Given the description of an element on the screen output the (x, y) to click on. 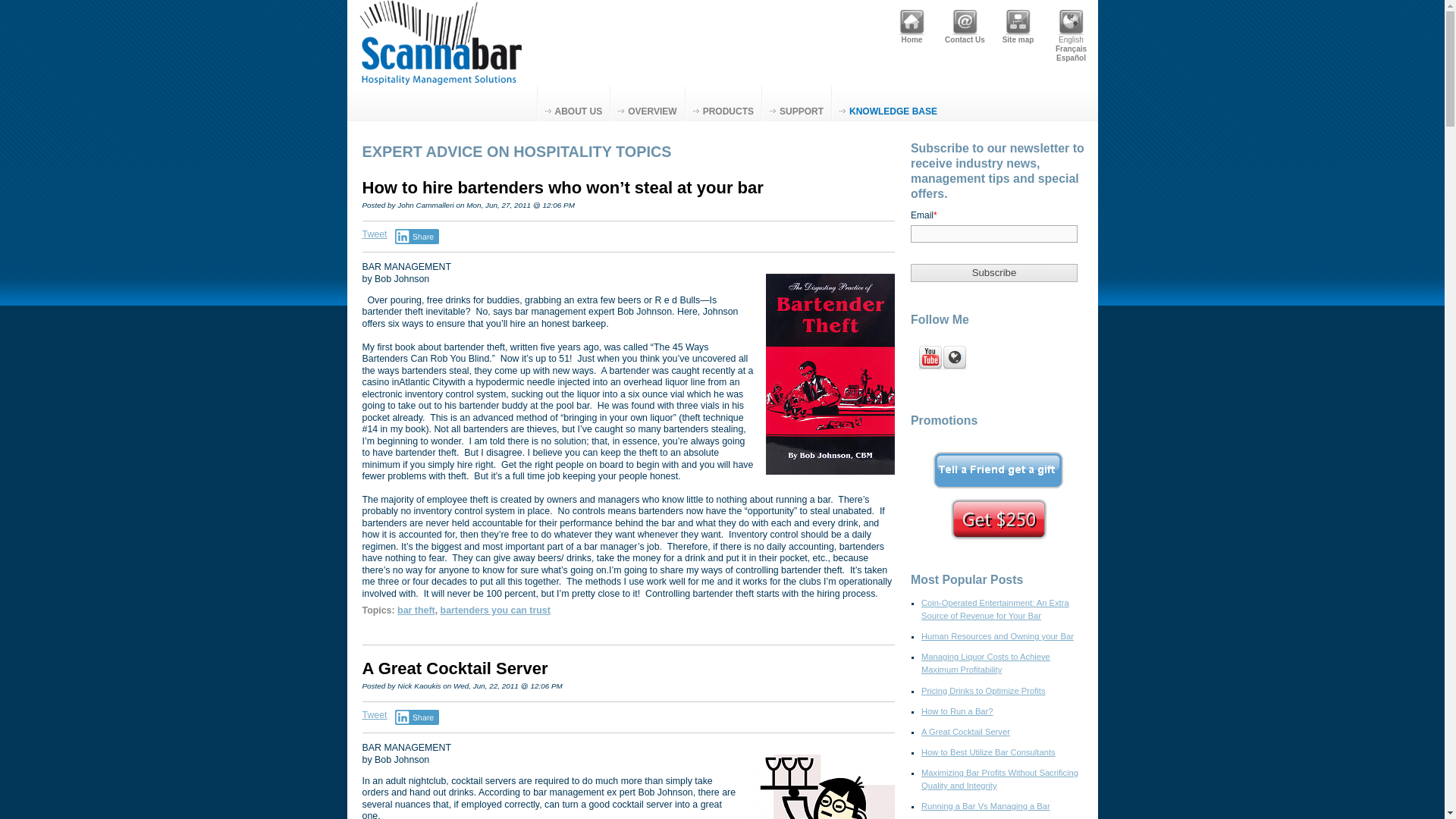
SUPPORT (796, 103)
Home (911, 22)
ABOUT US (573, 103)
KNOWLEDGE BASE (887, 103)
Tweet (374, 234)
bar theft (416, 610)
English (1070, 22)
Tweet (374, 715)
A Great Cocktail Server (455, 668)
Contact Us (964, 22)
Follow us on YouTube (930, 357)
Share (416, 717)
Site map (1017, 22)
Subscribe (994, 272)
